Given the description of an element on the screen output the (x, y) to click on. 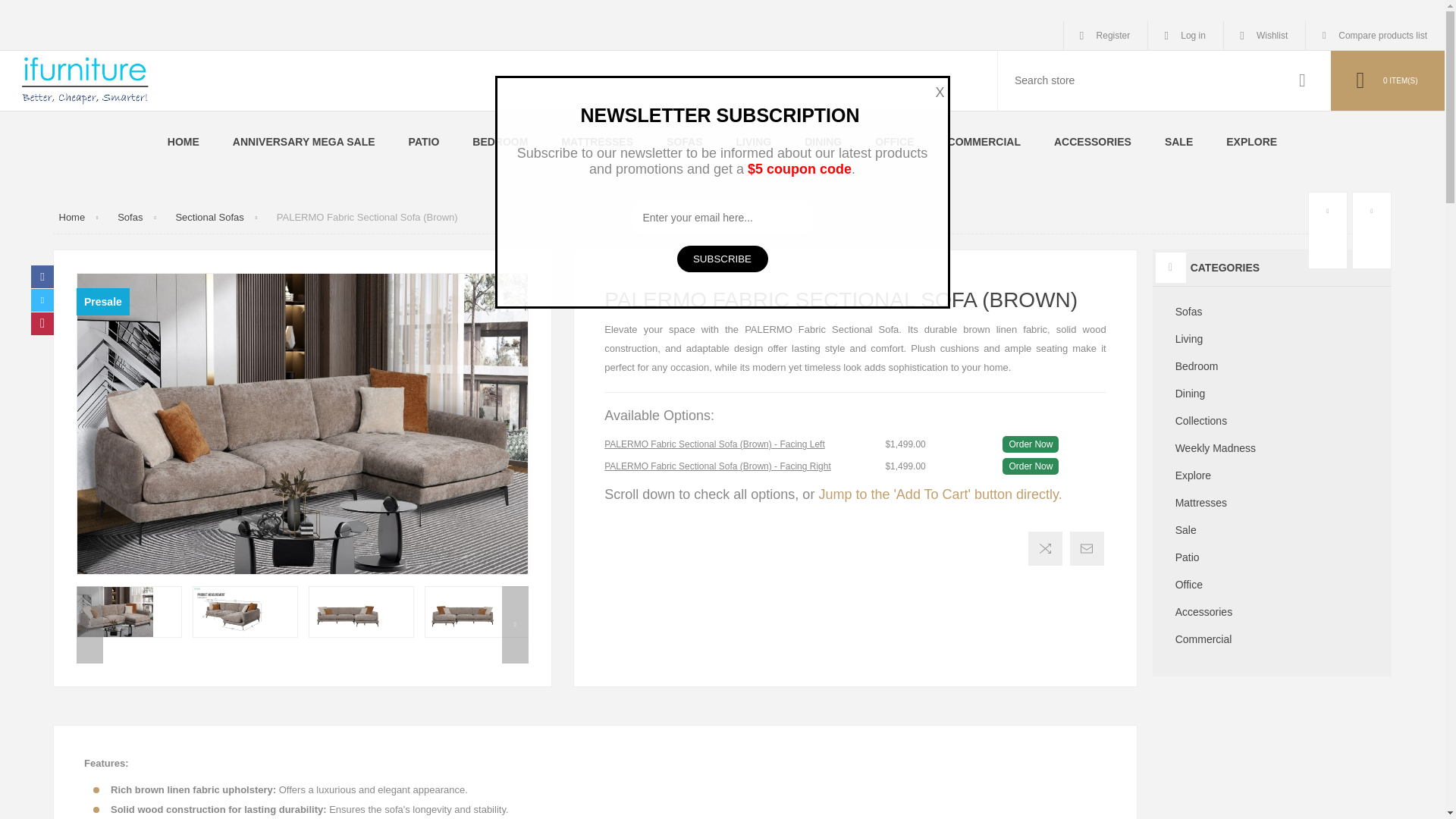
Log in (1185, 35)
Patio (424, 140)
Subscribe (722, 258)
MATTRESSES (596, 140)
PATIO (424, 140)
ANNIVERSARY MEGA SALE (303, 140)
Wishlist (1264, 35)
Register (1106, 35)
Anniversary Mega Sale (303, 140)
BEDROOM (499, 140)
HOME (183, 140)
Home (183, 140)
SOFAS (684, 140)
LIVING (754, 140)
Search (1302, 80)
